Given the description of an element on the screen output the (x, y) to click on. 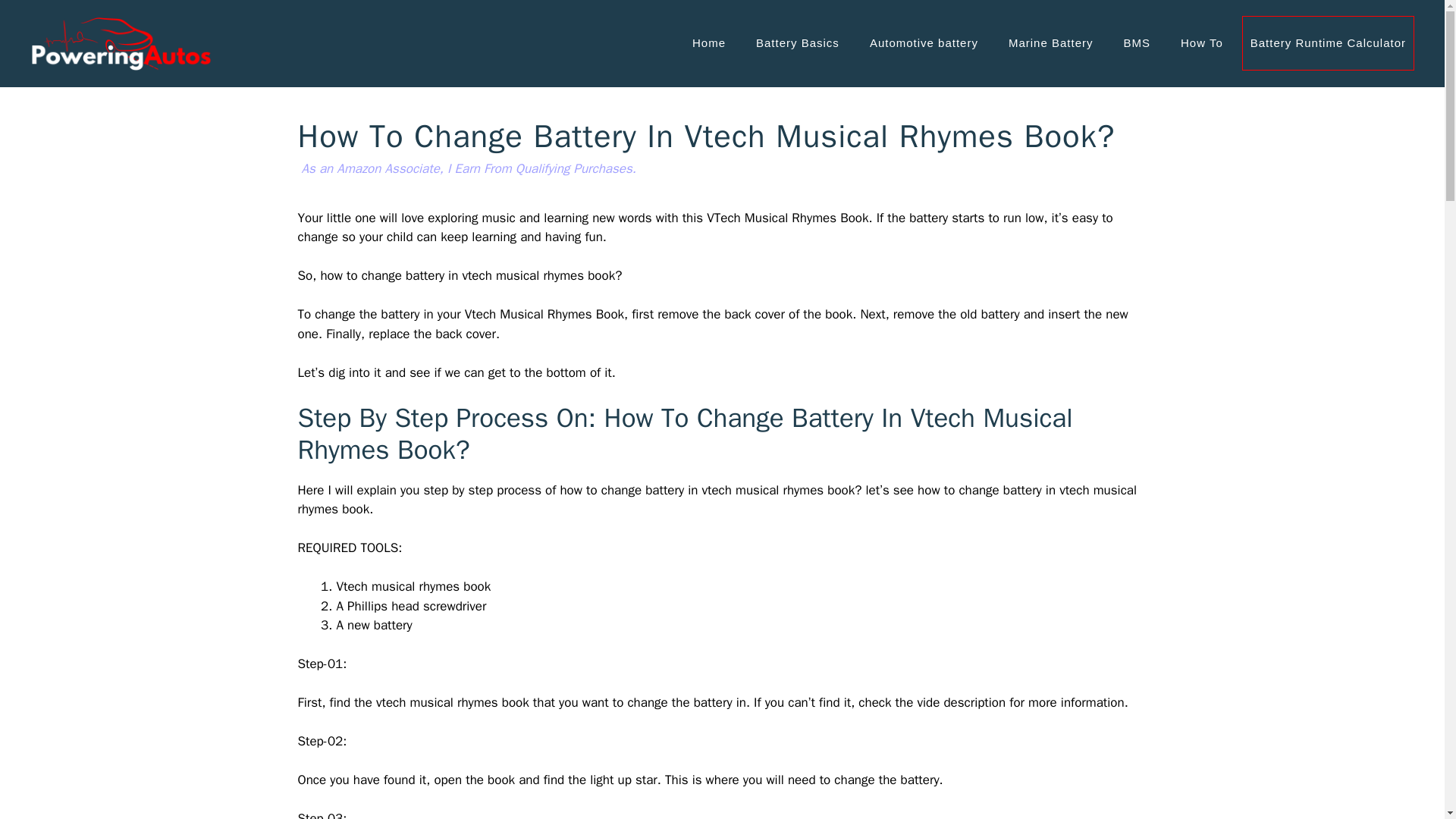
Battery Runtime Calculator (1327, 42)
How To (1202, 43)
Marine Battery (1050, 43)
BMS (1137, 43)
Automotive battery (923, 43)
Home (709, 43)
Battery Basics (797, 43)
